Given the description of an element on the screen output the (x, y) to click on. 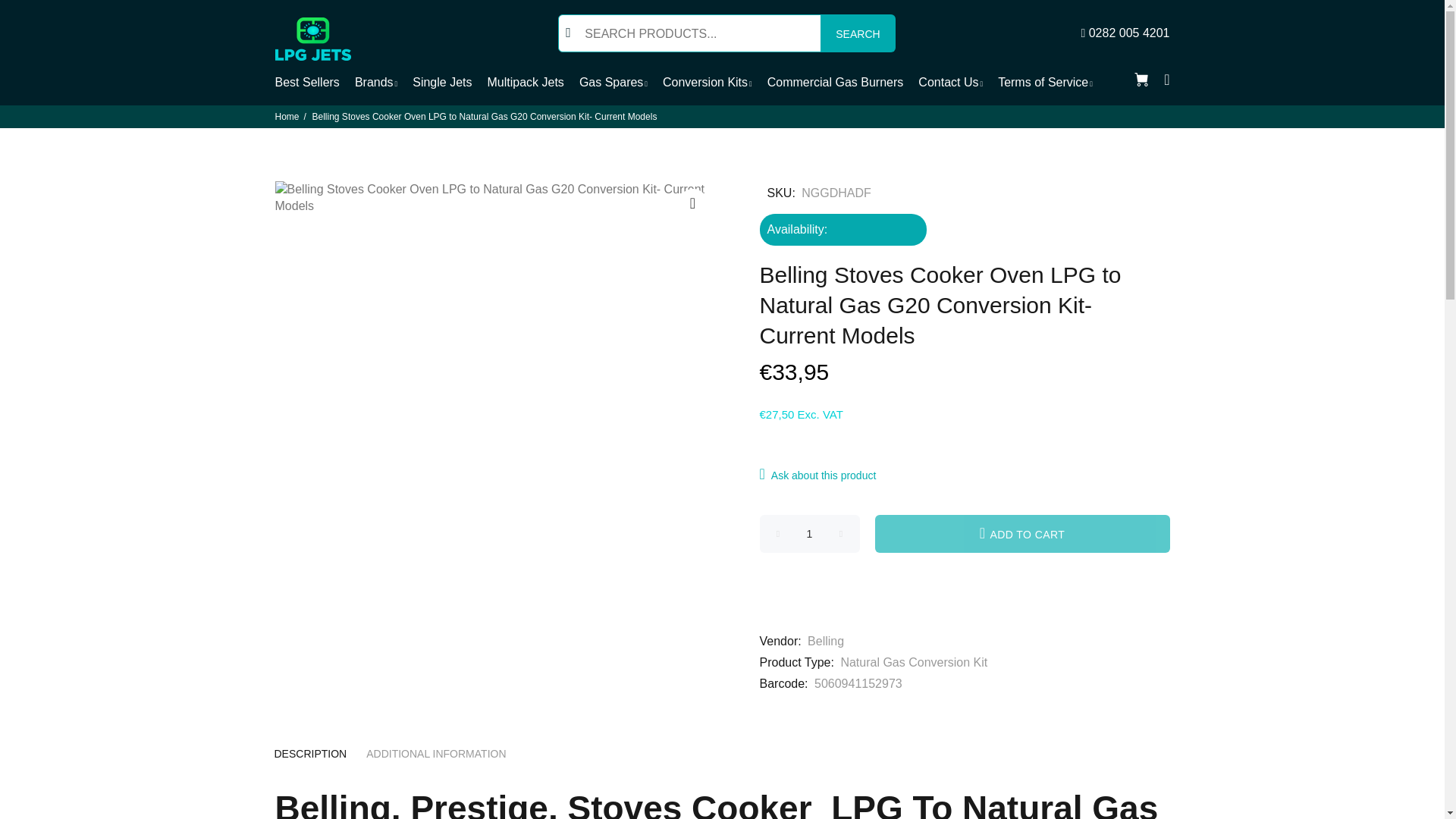
1 (810, 533)
